Given the description of an element on the screen output the (x, y) to click on. 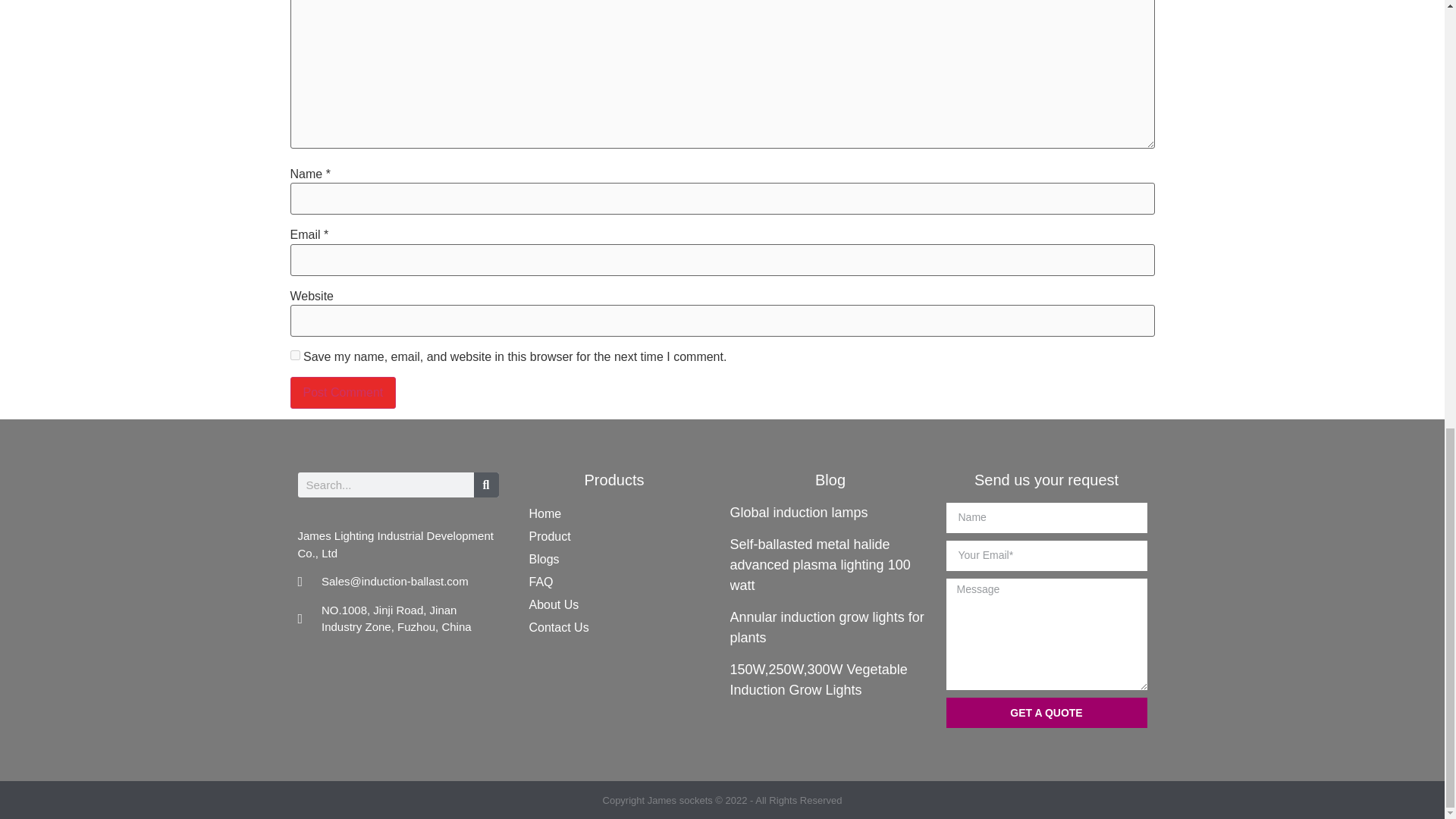
Blogs (613, 558)
Product (613, 536)
Post Comment (342, 392)
Home (613, 513)
FAQ (613, 581)
yes (294, 355)
About Us (613, 604)
Post Comment (342, 392)
Contact Us (613, 627)
